Given the description of an element on the screen output the (x, y) to click on. 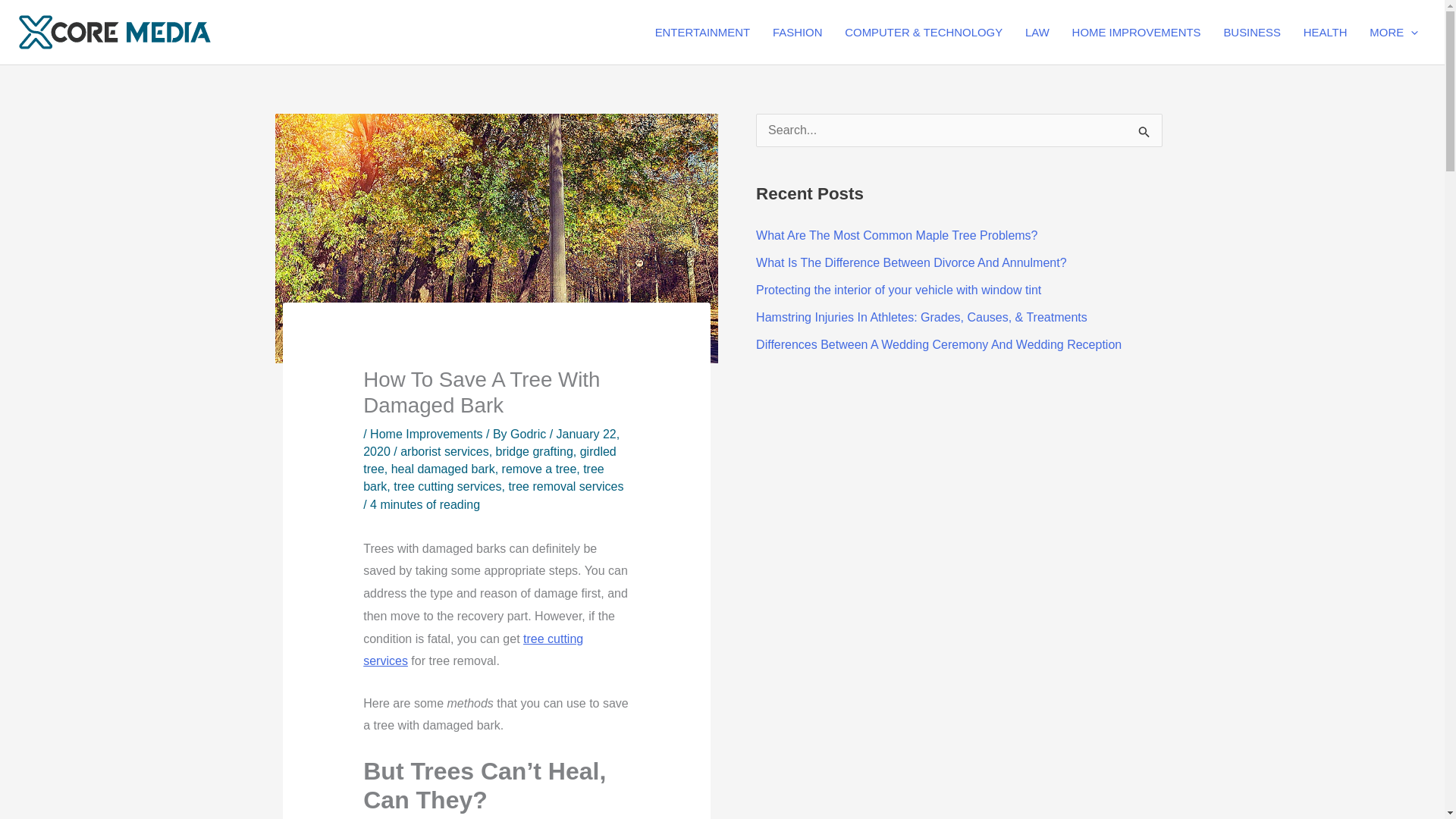
HOME IMPROVEMENTS (1136, 31)
Search (1144, 134)
girdled tree (488, 460)
remove a tree (539, 468)
FASHION (796, 31)
Godric (530, 433)
MORE (1393, 31)
Search (1144, 134)
BUSINESS (1251, 31)
ENTERTAINMENT (702, 31)
HEALTH (1325, 31)
LAW (1037, 31)
heal damaged bark (443, 468)
View all posts by Godric (530, 433)
bridge grafting (534, 451)
